Given the description of an element on the screen output the (x, y) to click on. 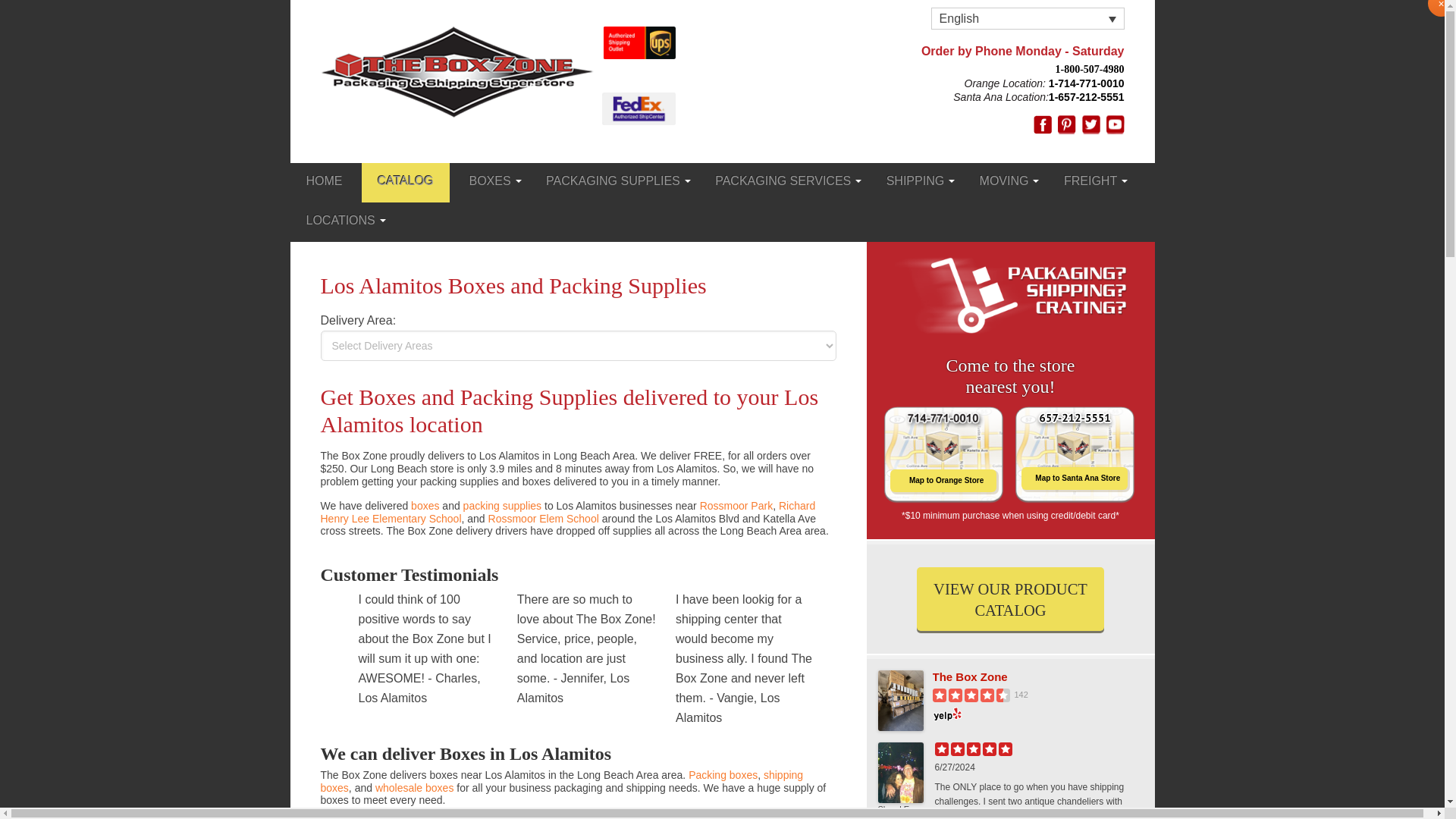
BOXES (489, 182)
fb (1041, 124)
1-657-212-5551 (1086, 96)
English (1027, 18)
CATALOG (405, 182)
5.0 star rating (972, 748)
The Box Zone Yelp page (1037, 676)
pinterest (1066, 124)
4.7 star rating (971, 694)
1-800-507-4980 (1089, 69)
twitter (1090, 124)
1-714-771-0010 (1084, 82)
HOME (323, 182)
THE BOX ZONE (456, 71)
PACKAGING SUPPLIES (612, 182)
